Given the description of an element on the screen output the (x, y) to click on. 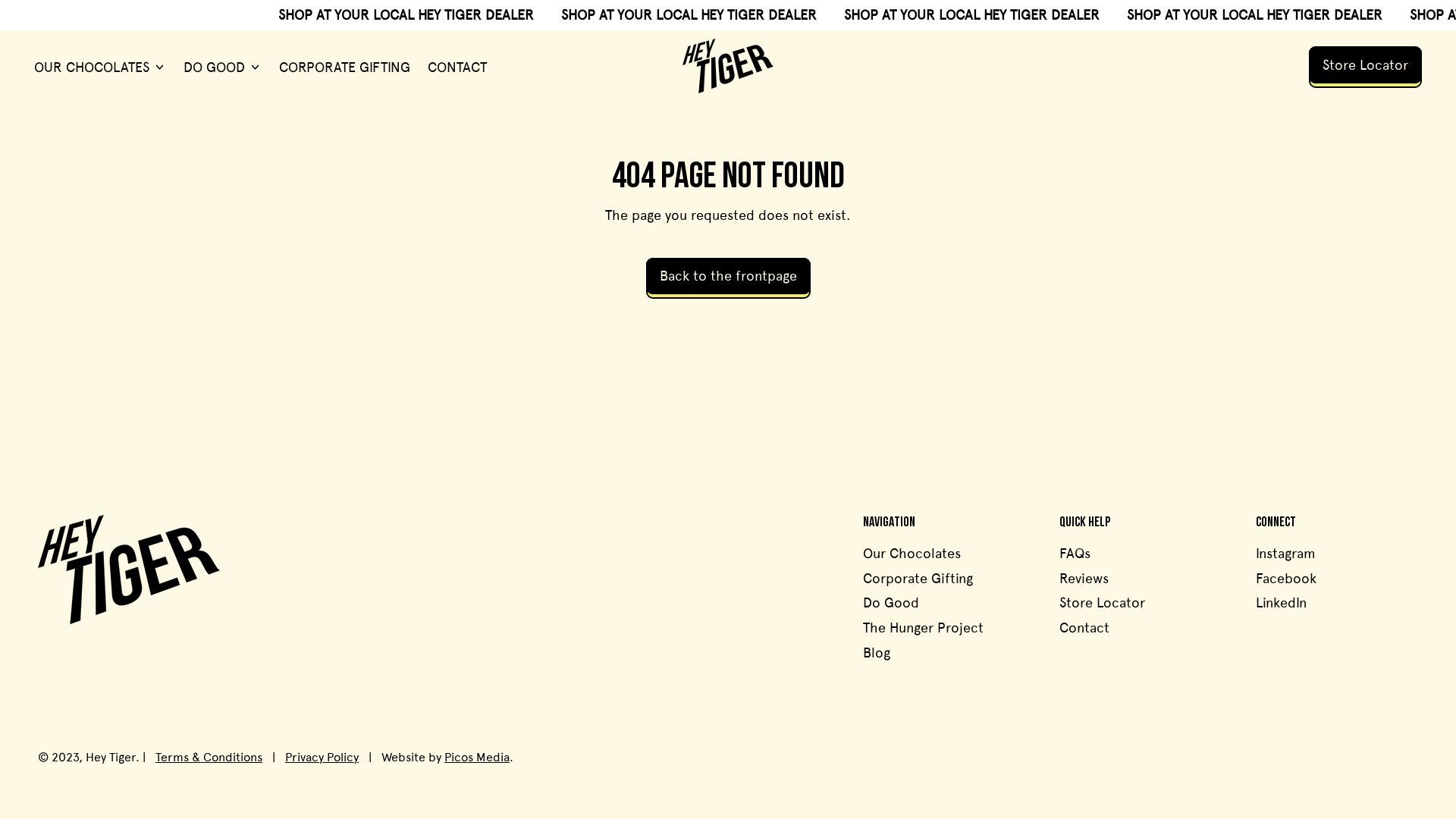
Blog Element type: text (876, 652)
Facebook Element type: text (1285, 577)
Privacy Policy Element type: text (321, 756)
Instagram Element type: text (1285, 552)
Store Locator Element type: text (1364, 64)
LinkedIn Element type: text (1280, 602)
FAQs Element type: text (1074, 552)
OUR CHOCOLATES Element type: text (100, 66)
Hey Tiger Element type: text (110, 756)
CORPORATE GIFTING Element type: text (344, 66)
Our Chocolates Element type: text (911, 552)
Do Good Element type: text (890, 602)
Back to the frontpage Element type: text (728, 275)
CONTACT Element type: text (456, 66)
Store Locator Element type: text (1102, 602)
DO GOOD Element type: text (222, 66)
Terms & Conditions Element type: text (208, 756)
The Hunger Project Element type: text (922, 627)
Contact Element type: text (1084, 627)
Picos Media Element type: text (476, 756)
Corporate Gifting Element type: text (917, 577)
Reviews Element type: text (1083, 577)
